Given the description of an element on the screen output the (x, y) to click on. 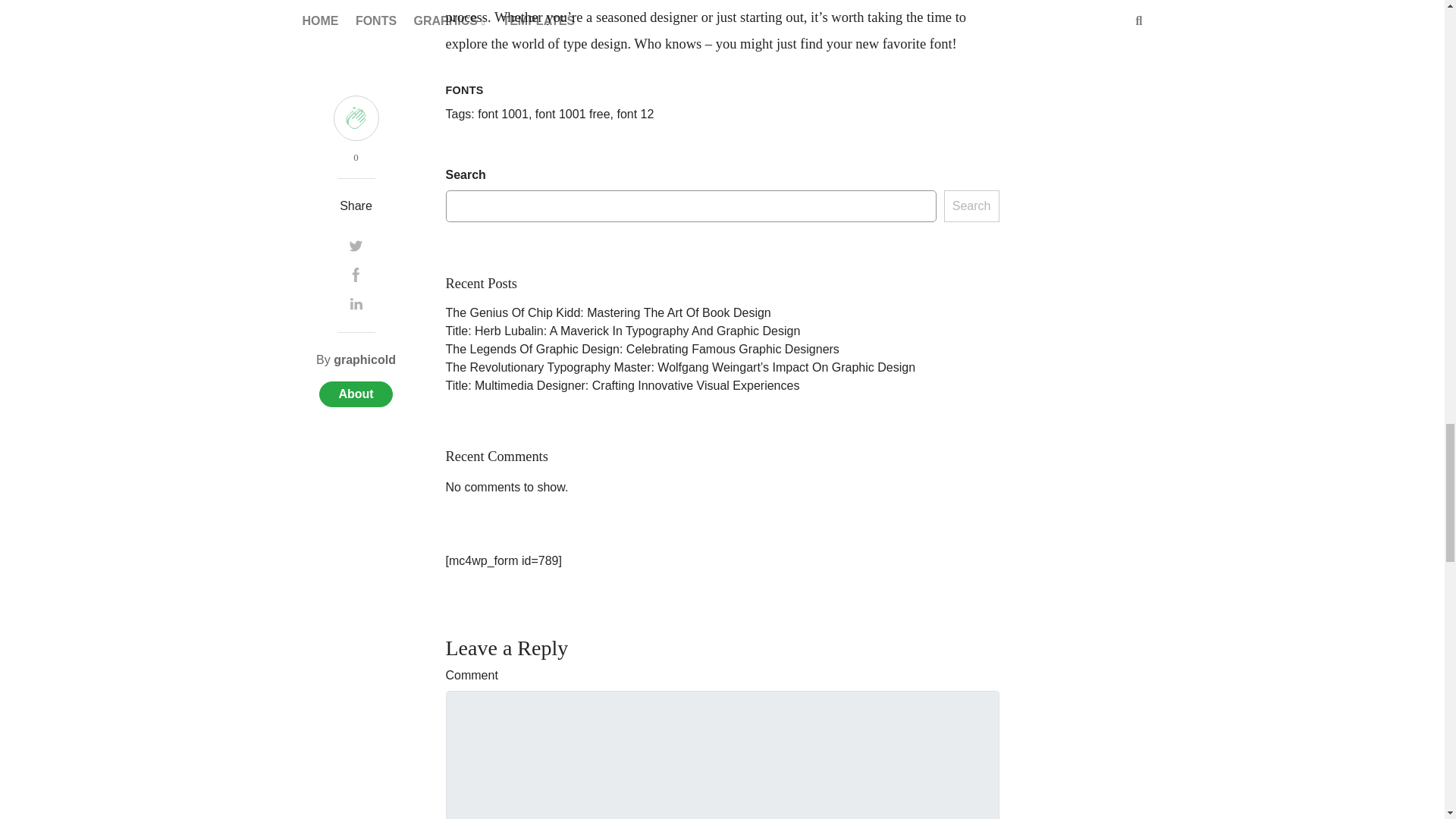
Search (970, 205)
font 1001 (502, 113)
font 12 (634, 113)
font 1001 free (572, 113)
FONTS (464, 90)
The Genius Of Chip Kidd: Mastering The Art Of Book Design (608, 312)
